Given the description of an element on the screen output the (x, y) to click on. 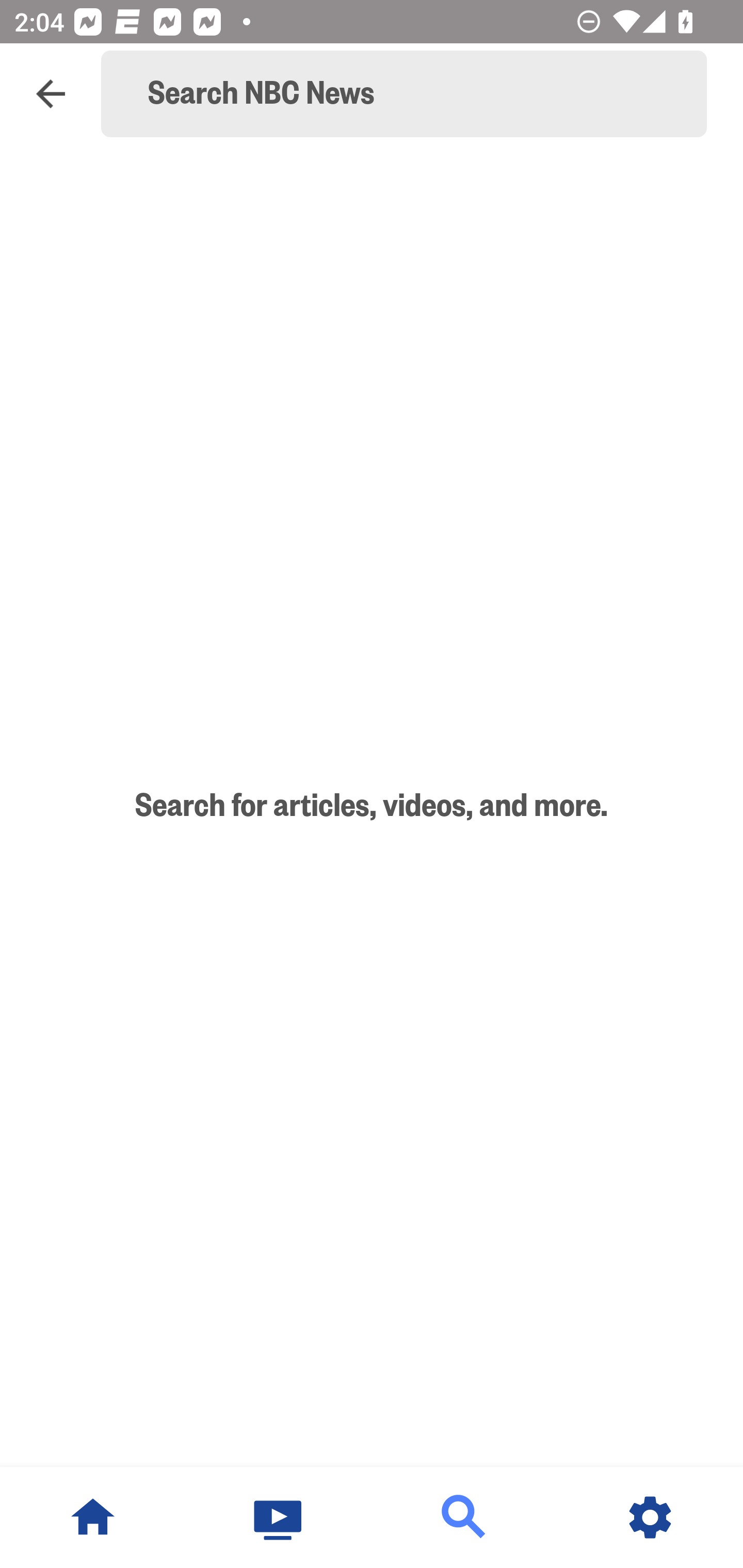
Navigate up (50, 93)
Search NBC News (412, 94)
NBC News Home (92, 1517)
Watch (278, 1517)
Settings (650, 1517)
